Given the description of an element on the screen output the (x, y) to click on. 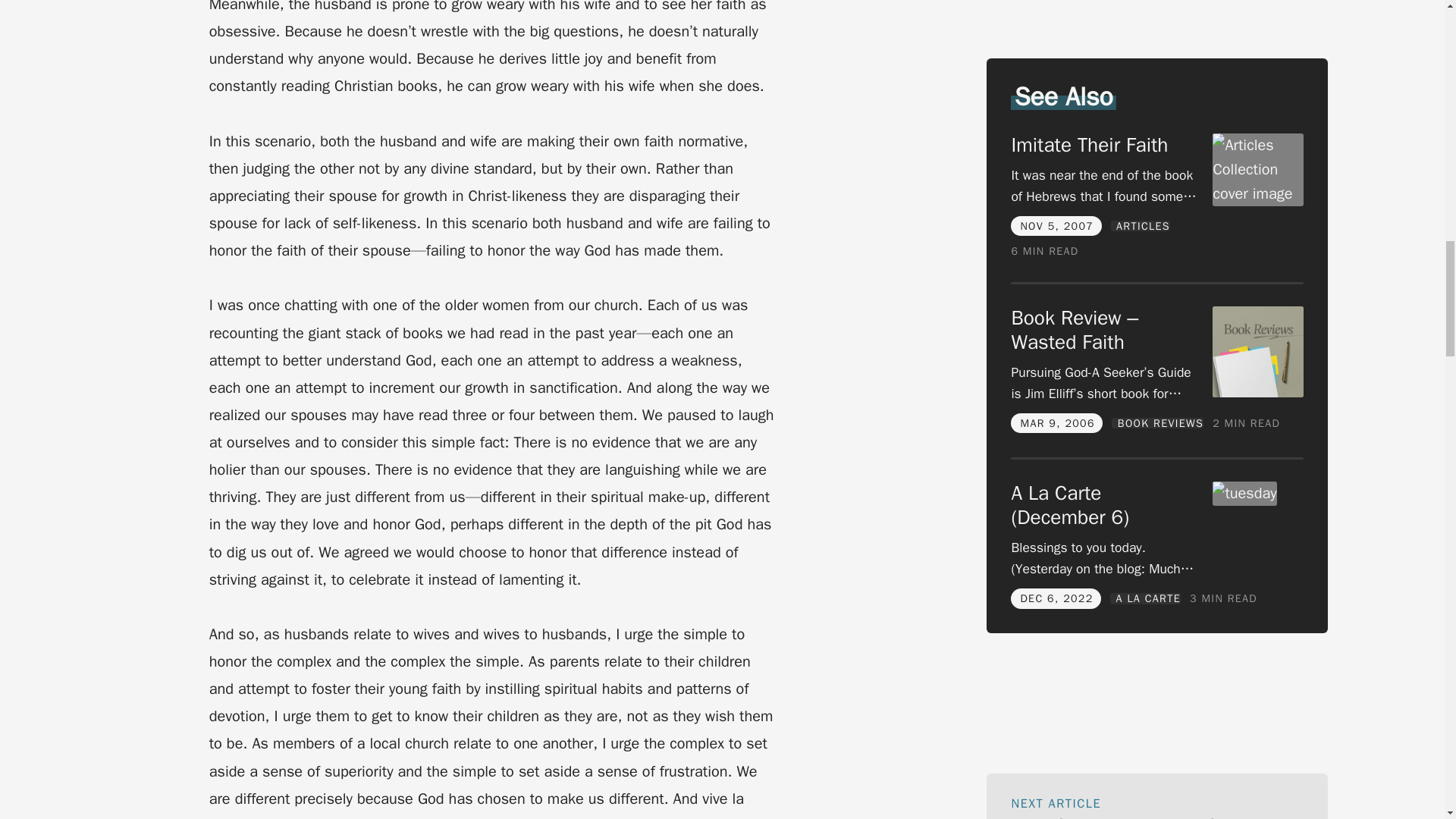
Imitate Their Faith (1088, 46)
878 words (1044, 151)
Nov 5, 2007 at 11:30 am (1056, 126)
394 words (1223, 499)
ARTICLES (1140, 126)
Mar 9, 2006 at 10:08 am (1057, 323)
Dec 6, 2022 at 1:00 am (1056, 499)
BOOK REVIEWS (1158, 323)
286 words (1245, 323)
